Given the description of an element on the screen output the (x, y) to click on. 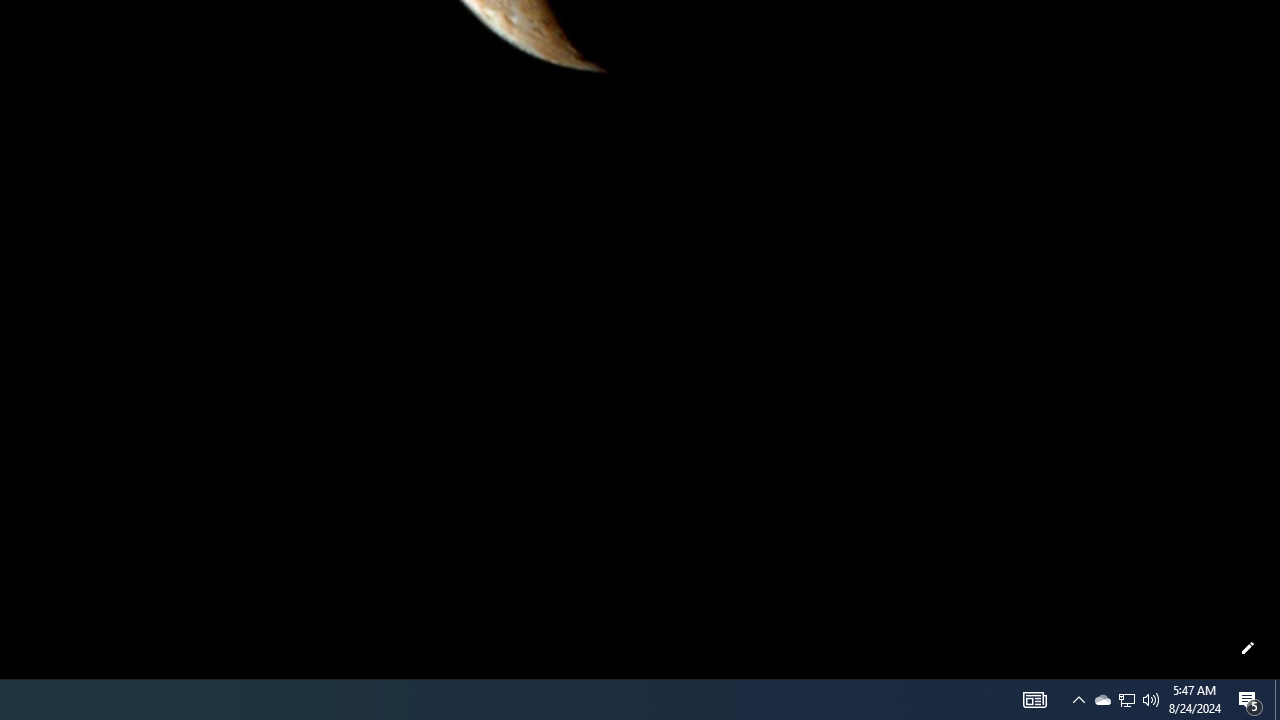
Customize this page (1247, 647)
